Given the description of an element on the screen output the (x, y) to click on. 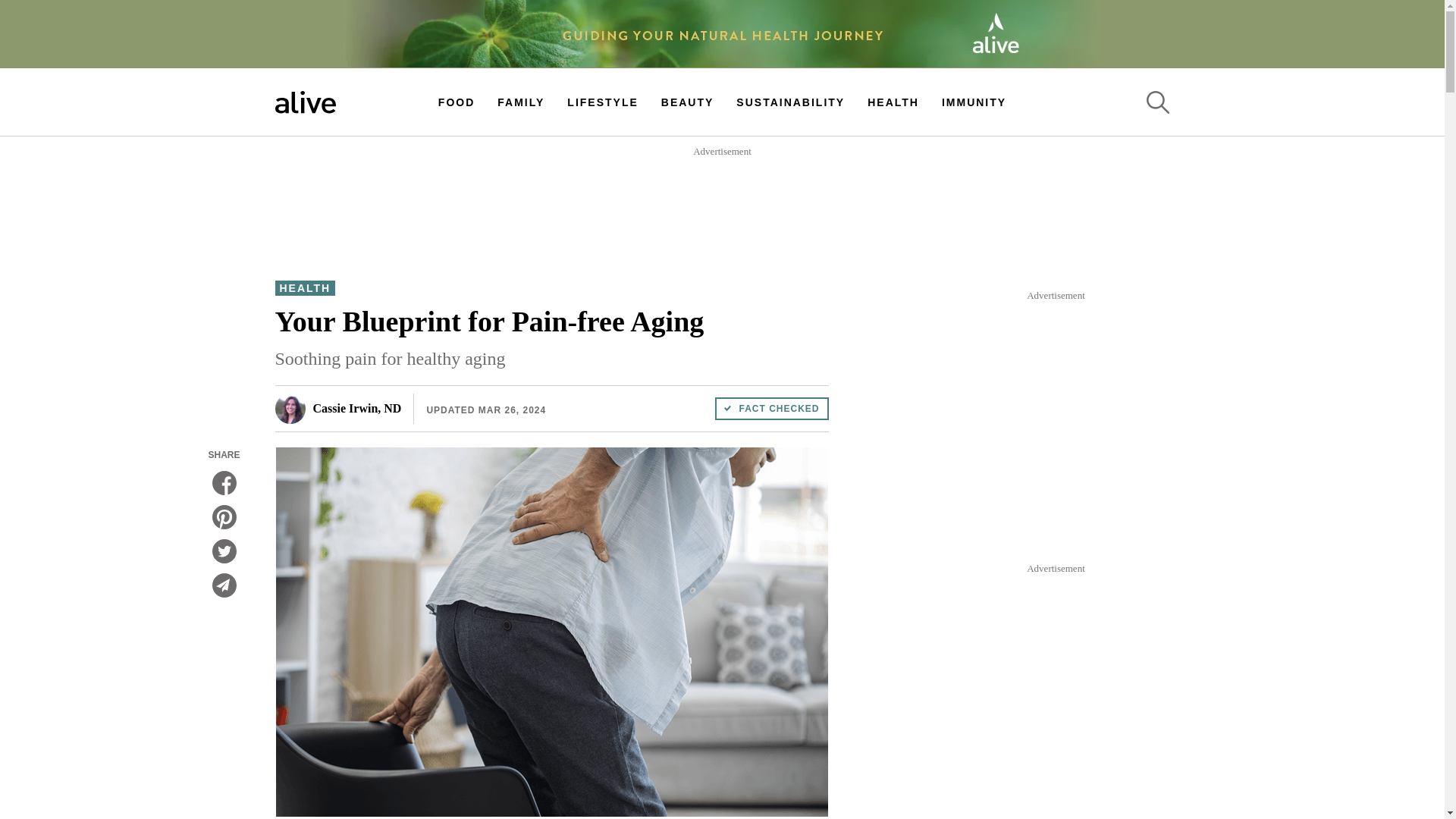
IMMUNITY (974, 101)
FAMILY (520, 101)
LIFESTYLE (602, 101)
FOOD (456, 101)
SUSTAINABILITY (790, 101)
HEALTH (304, 287)
HEALTH (892, 101)
Cassie Irwin, ND (338, 408)
BEAUTY (687, 101)
